Given the description of an element on the screen output the (x, y) to click on. 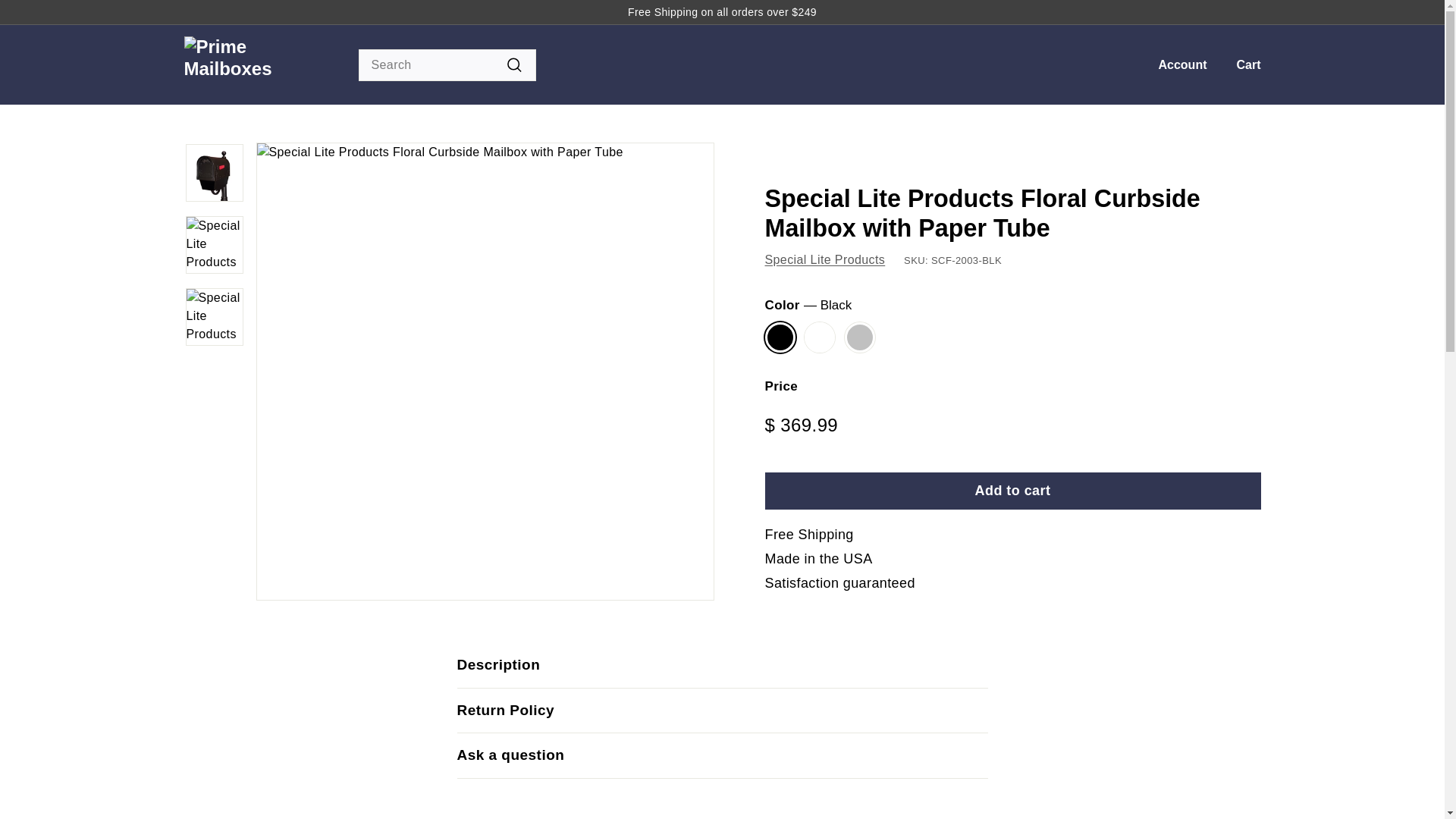
Account (1176, 64)
Ask a question (722, 755)
Special Lite Products (824, 259)
Add to cart (1012, 491)
Description (722, 665)
Cart (1242, 64)
Return Policy (722, 710)
